Given the description of an element on the screen output the (x, y) to click on. 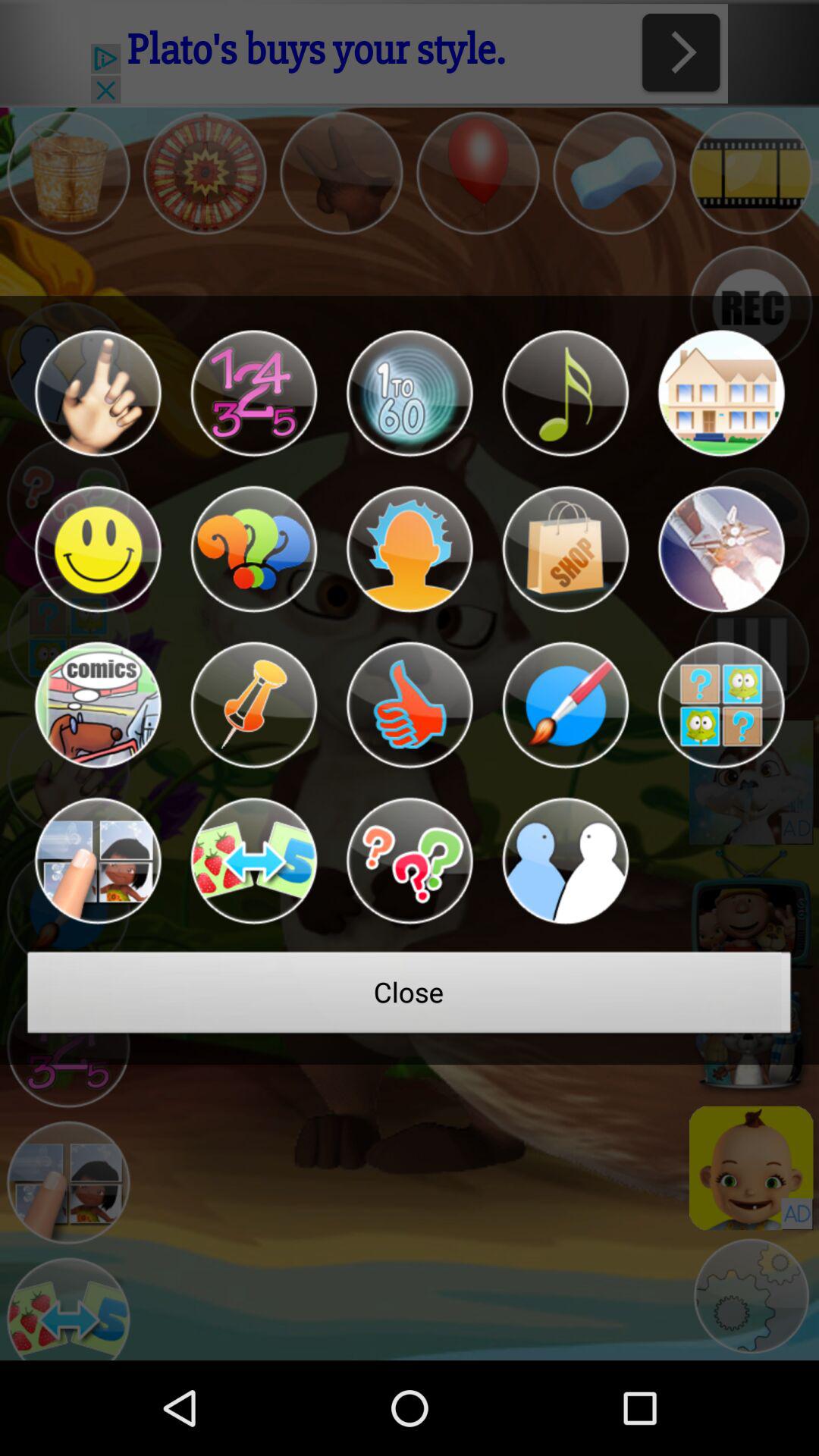
create an avatar (97, 393)
